Given the description of an element on the screen output the (x, y) to click on. 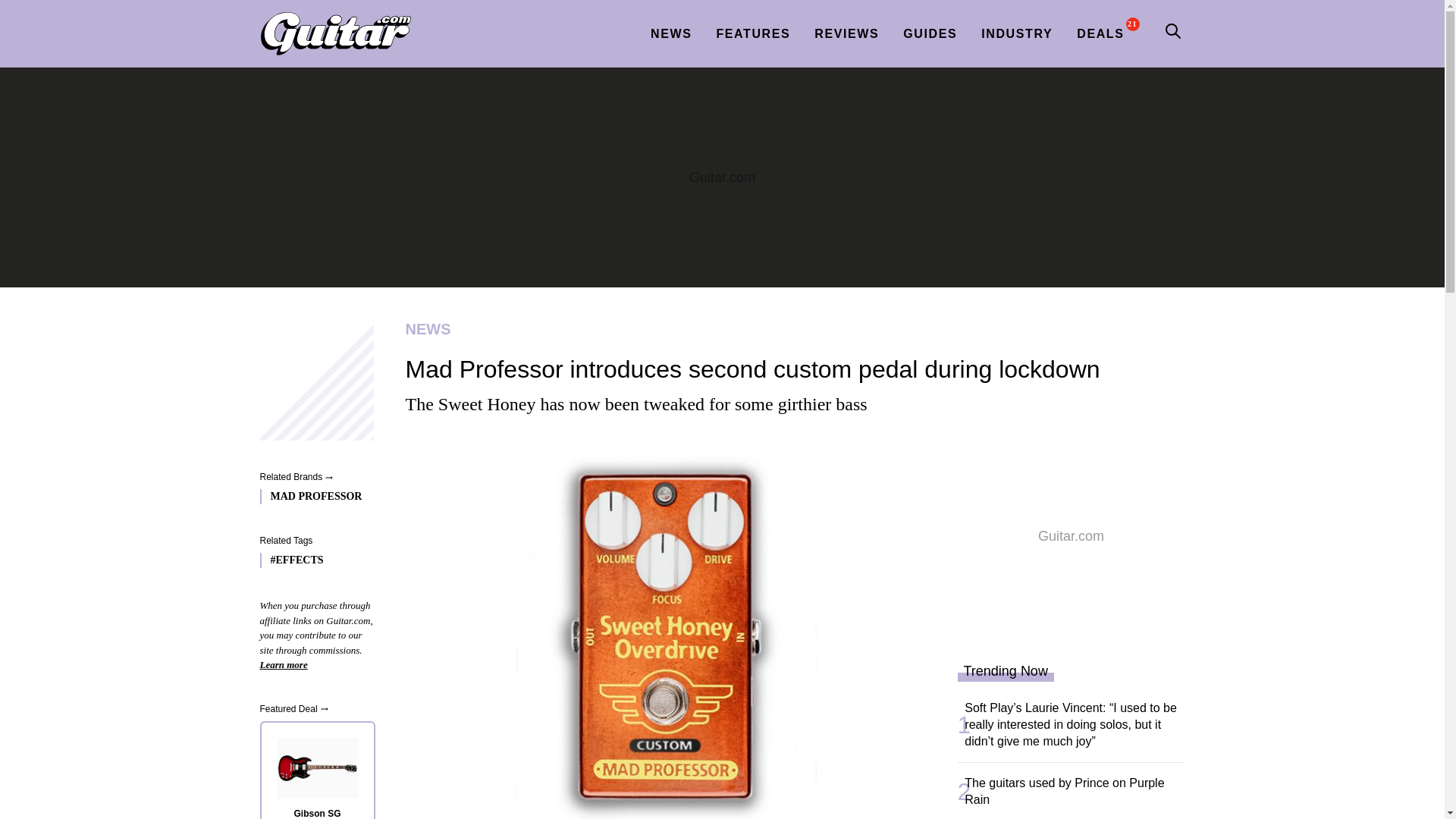
Mad Professor (312, 496)
INDUSTRY (1016, 33)
NEWS (789, 328)
The guitars used by Prince on Purple Rain (1078, 791)
GUIDES (929, 33)
Learn more (283, 664)
DEALS (1099, 33)
FEATURES (753, 33)
Effects (312, 560)
REVIEWS (846, 33)
